Given the description of an element on the screen output the (x, y) to click on. 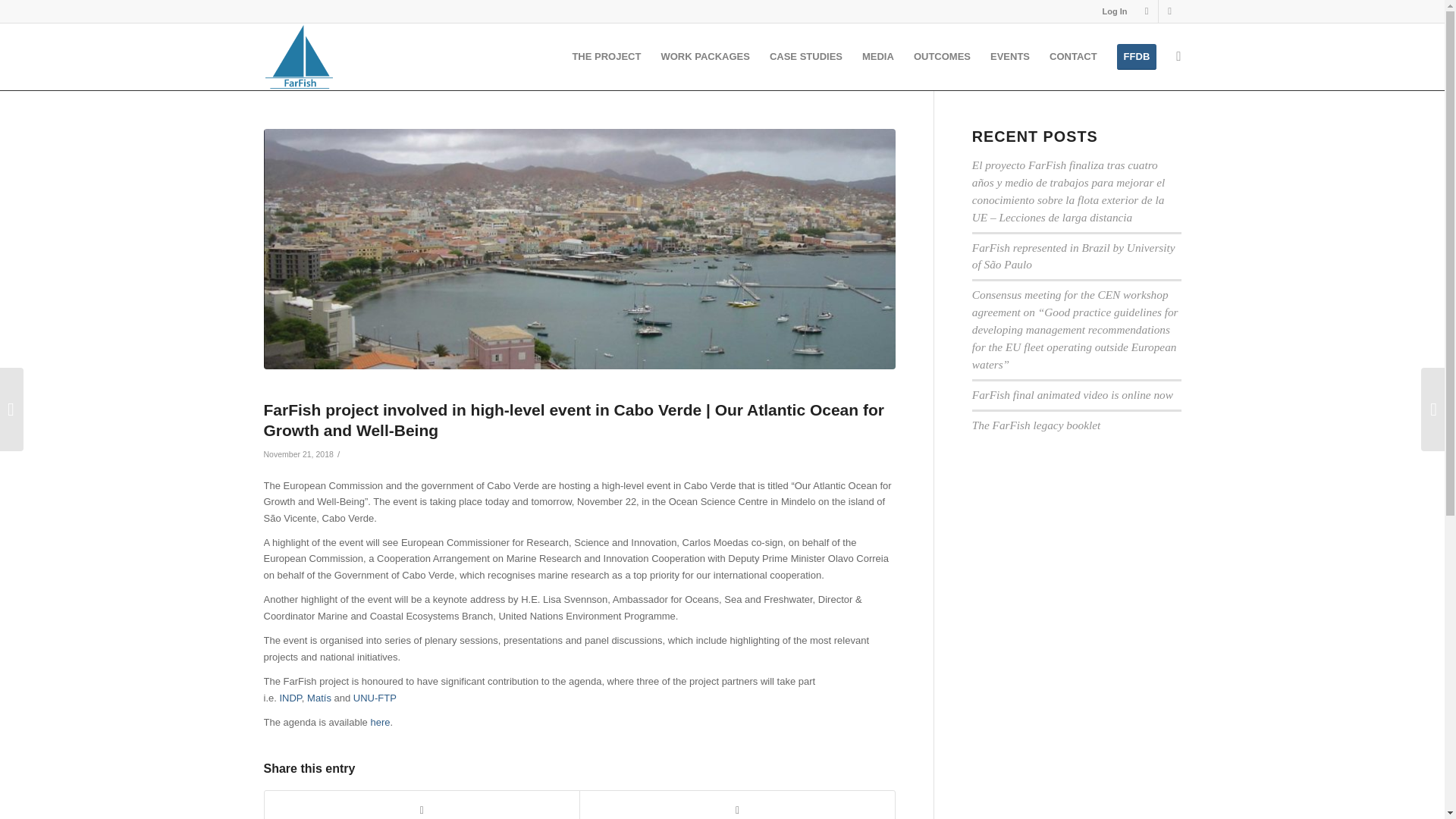
Twitter (1146, 11)
Log In (1114, 11)
Facebook (1169, 11)
